Given the description of an element on the screen output the (x, y) to click on. 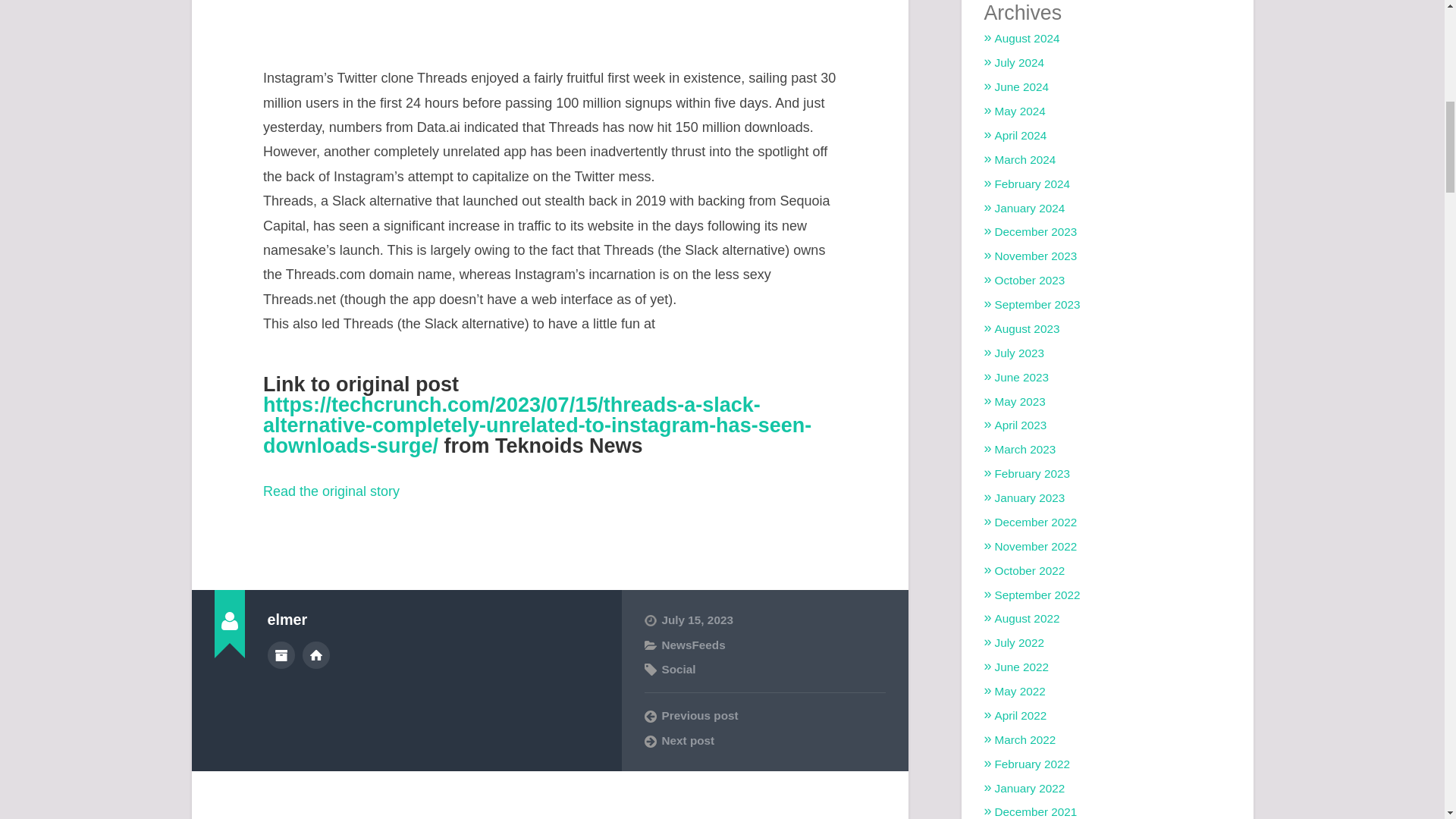
Social (678, 668)
January 2024 (1029, 207)
Previous post (765, 715)
Author website (316, 655)
February 2024 (1032, 183)
August 2024 (1026, 38)
Read the original story (330, 491)
May 2024 (1019, 110)
April 2024 (1020, 134)
March 2024 (1025, 159)
